Given the description of an element on the screen output the (x, y) to click on. 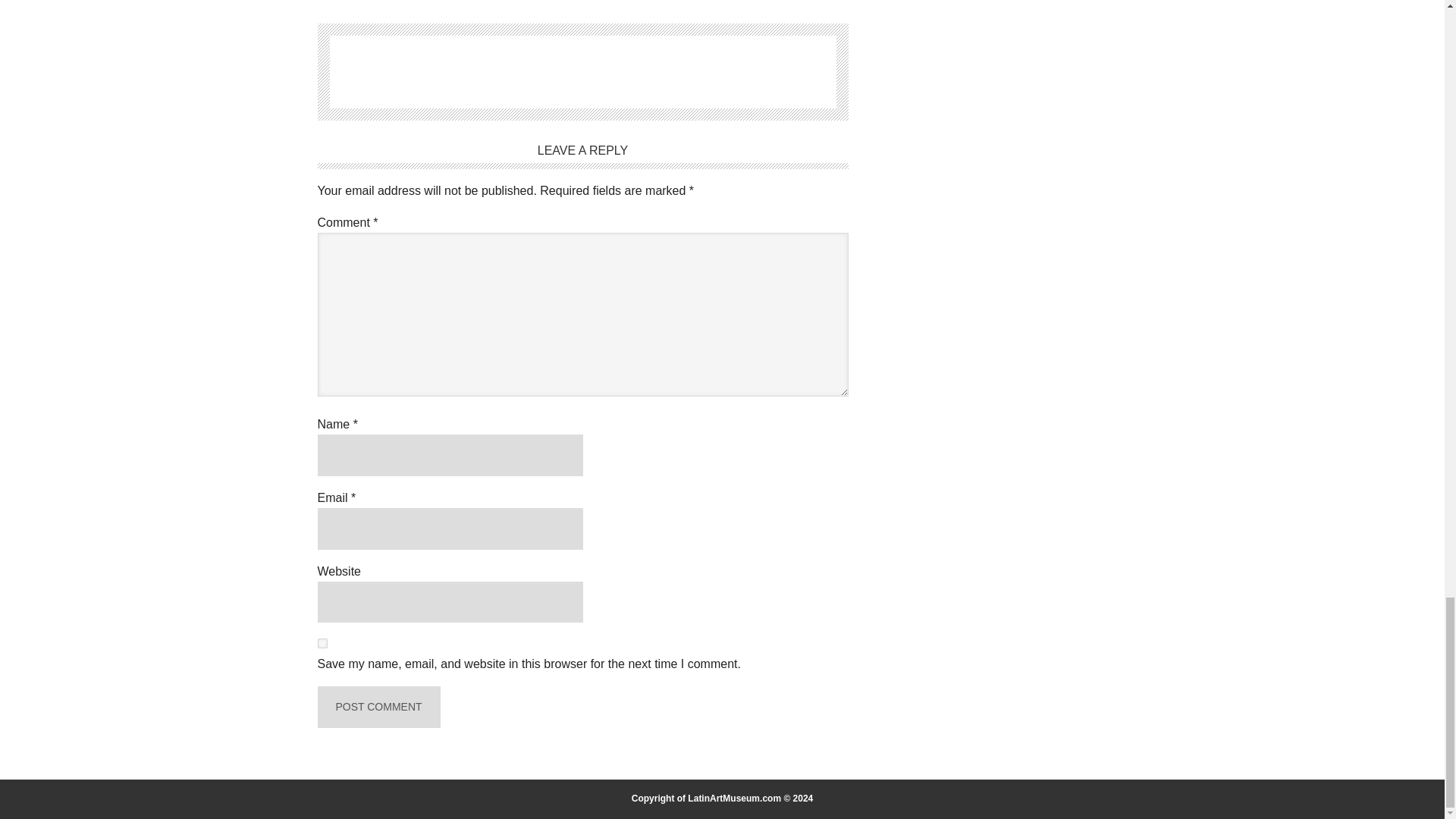
Post Comment (378, 707)
Post Comment (378, 707)
yes (321, 643)
